Given the description of an element on the screen output the (x, y) to click on. 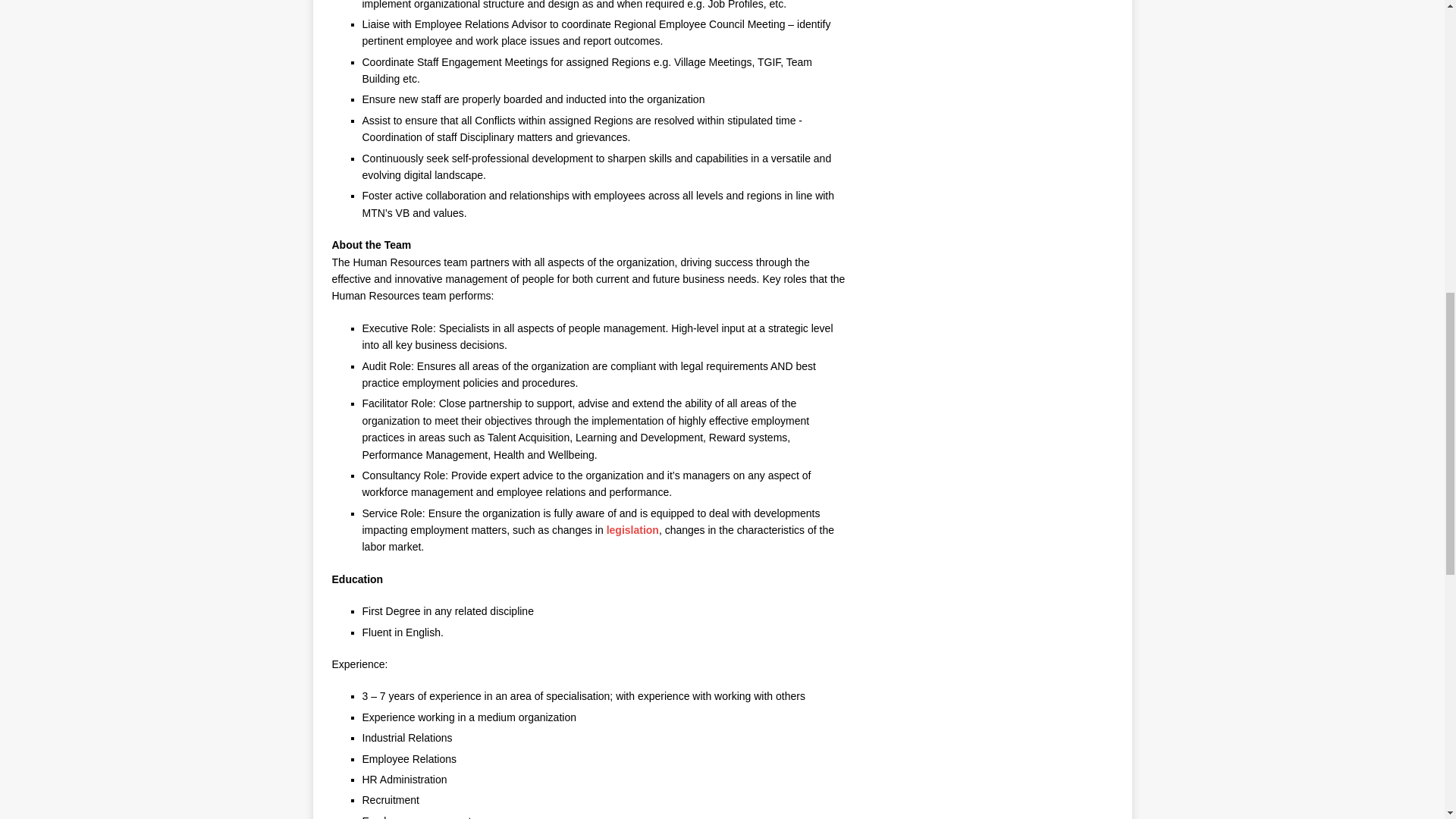
legislation (633, 530)
